Given the description of an element on the screen output the (x, y) to click on. 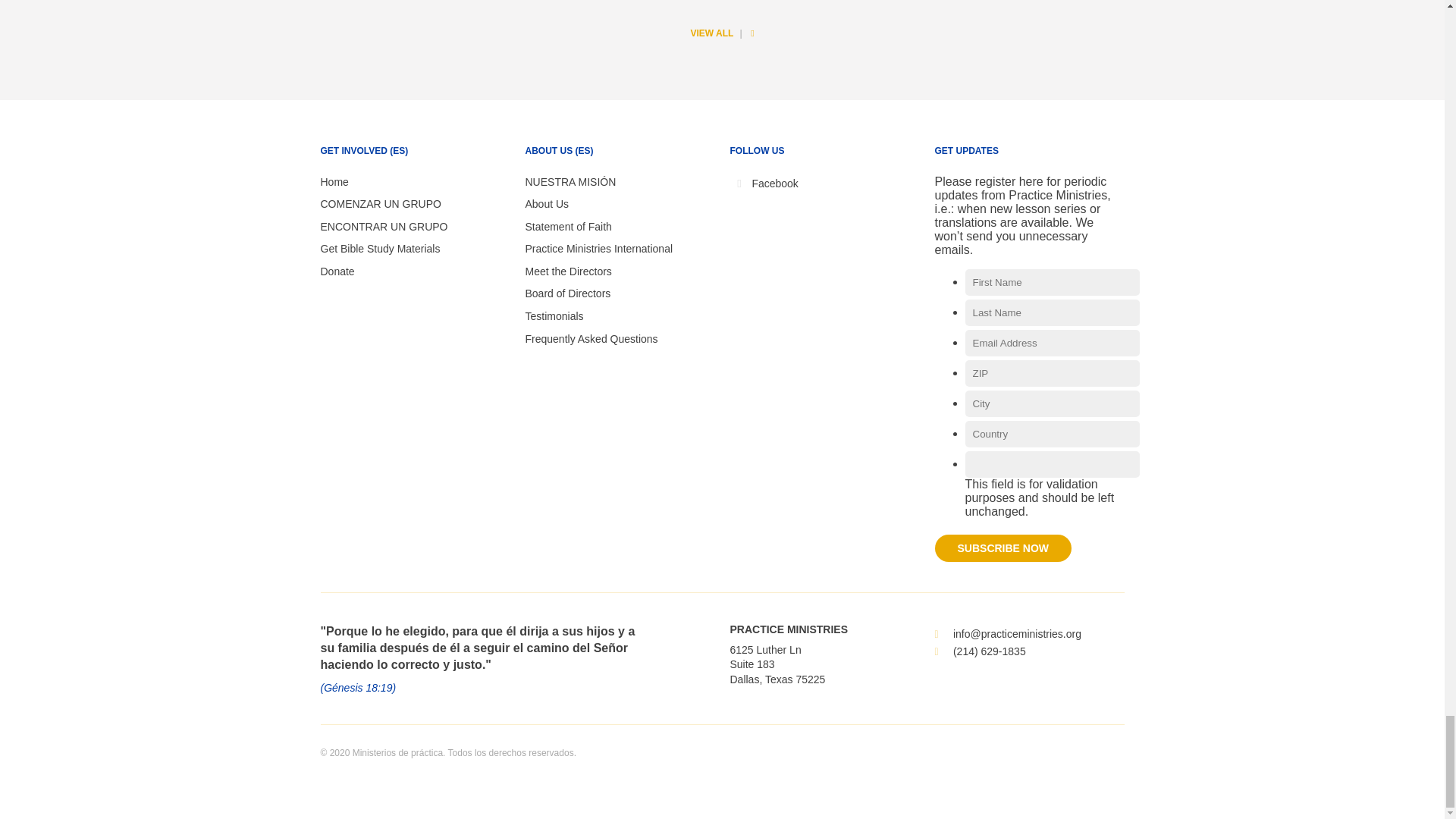
Subscribe Now (1002, 547)
